Given the description of an element on the screen output the (x, y) to click on. 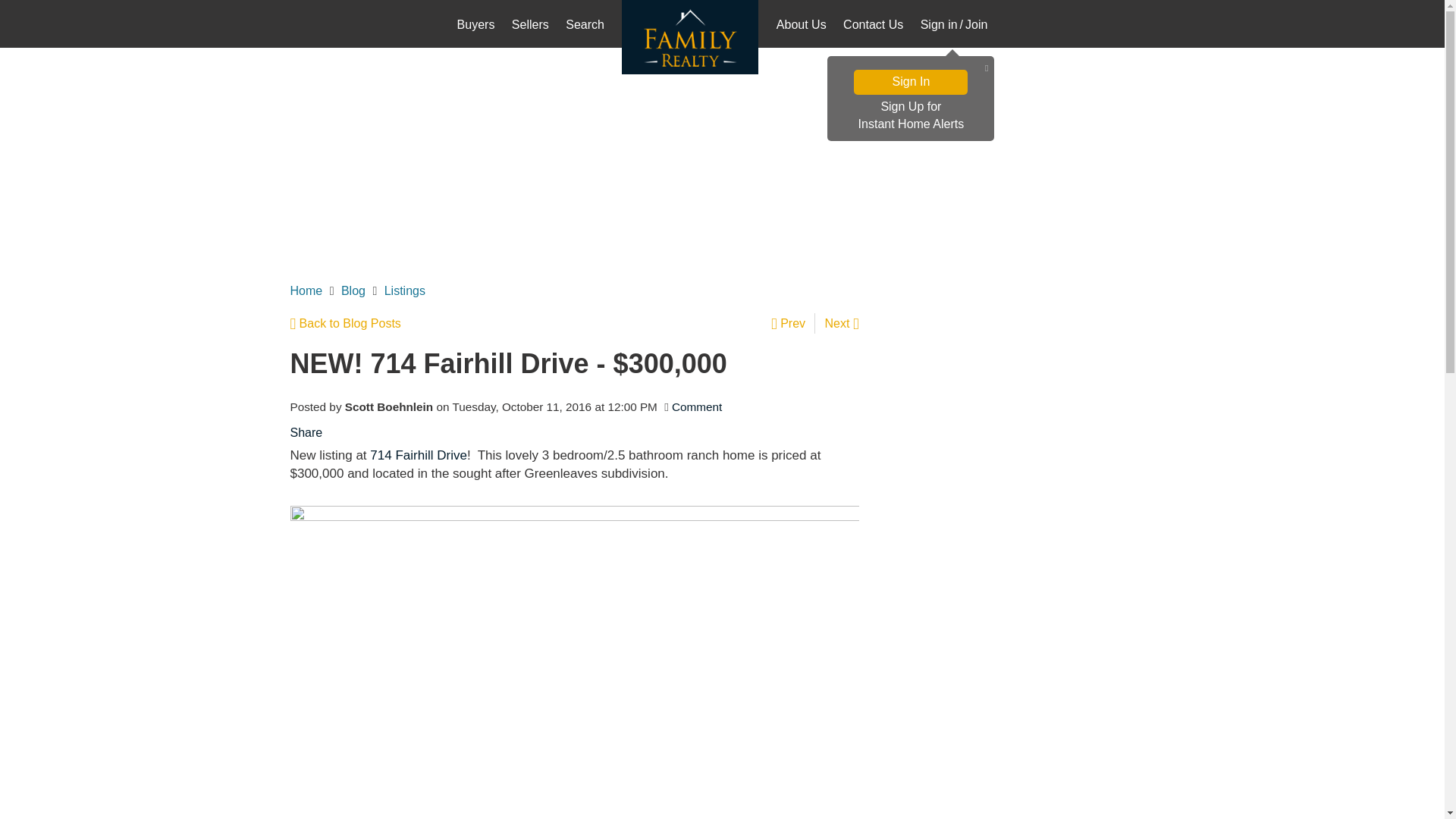
714 Fairhill Drive (418, 454)
Search (585, 25)
Prev (793, 322)
Back to Blog Posts (344, 323)
Home (305, 290)
Listings (404, 290)
Blog (352, 290)
Next (910, 116)
Sellers (842, 322)
